Given the description of an element on the screen output the (x, y) to click on. 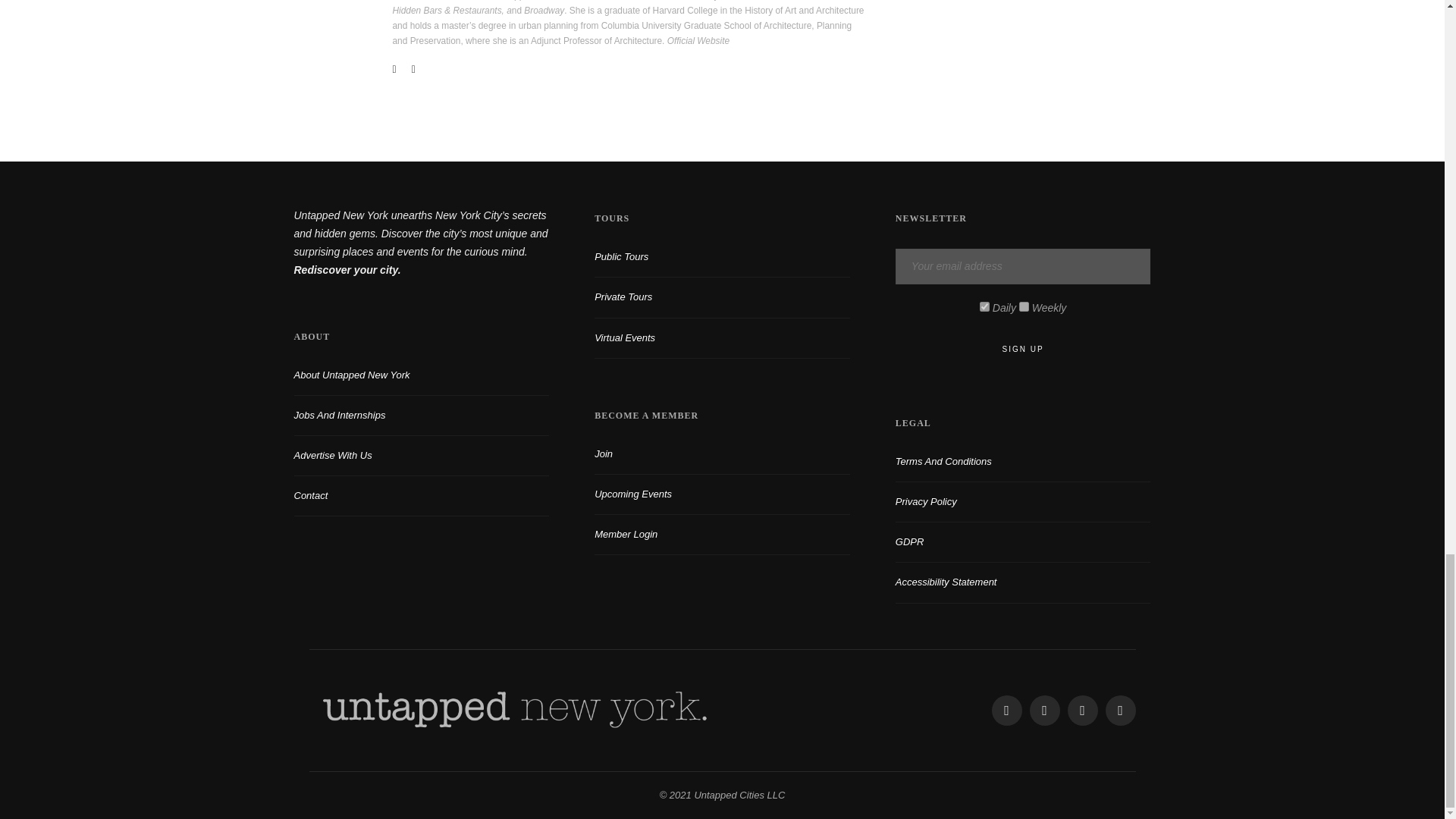
Sign up (1023, 349)
7cff6a70fd (1024, 307)
e99a09560c (984, 307)
